Given the description of an element on the screen output the (x, y) to click on. 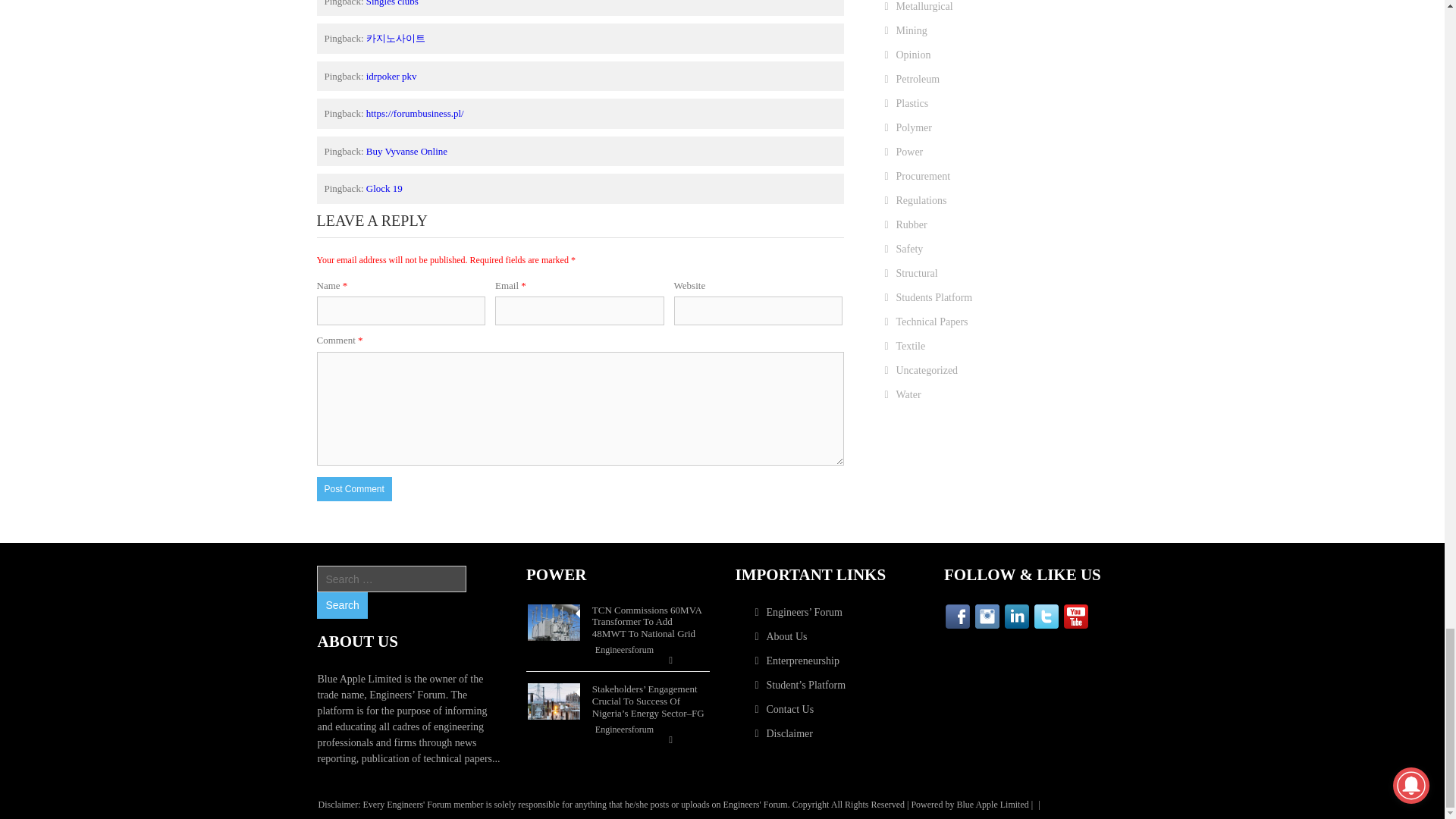
Search (341, 605)
Search (341, 605)
Post Comment (354, 488)
